Given the description of an element on the screen output the (x, y) to click on. 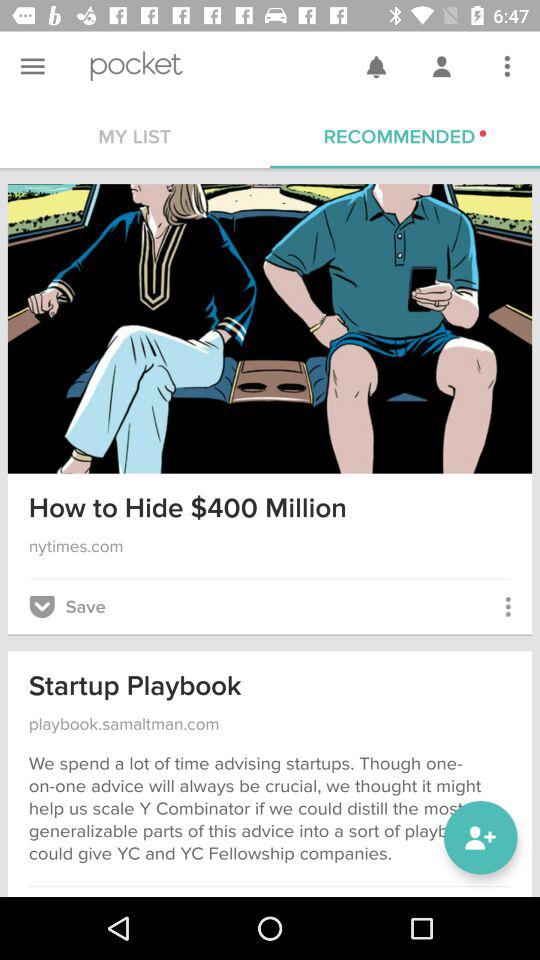
select option save on page (67, 606)
select the first icon at the top right corner (375, 65)
click on the option button which is righht hand side (507, 65)
